Given the description of an element on the screen output the (x, y) to click on. 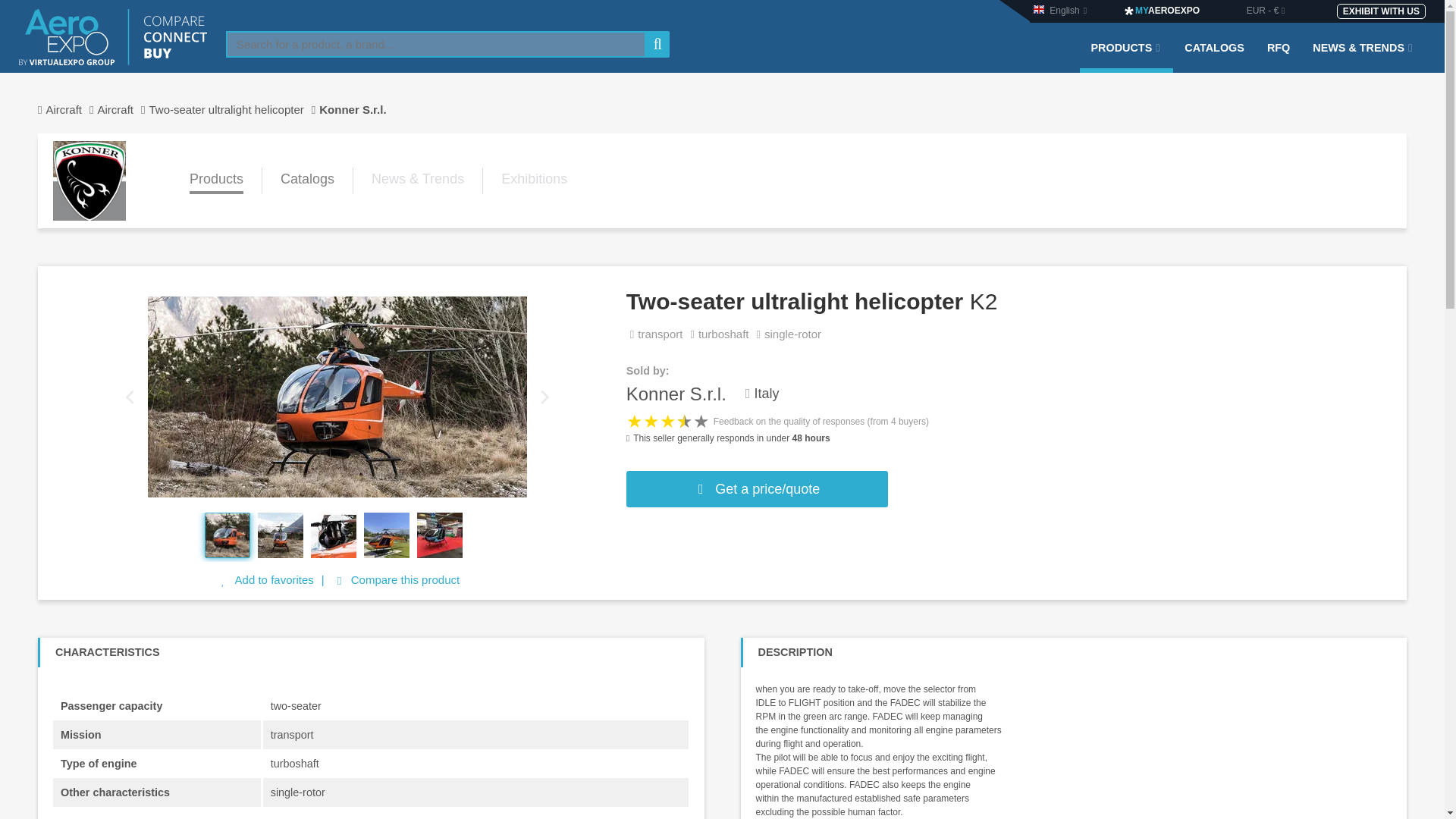
Aircraft (122, 109)
EXHIBIT WITH US (1380, 11)
Catalogs (307, 180)
PRODUCTS (1126, 56)
Aircraft (67, 109)
Products (216, 180)
CATALOGS (1214, 56)
RFQ (1278, 56)
Two-seater ultralight helicopter (233, 109)
English (1063, 9)
